Given the description of an element on the screen output the (x, y) to click on. 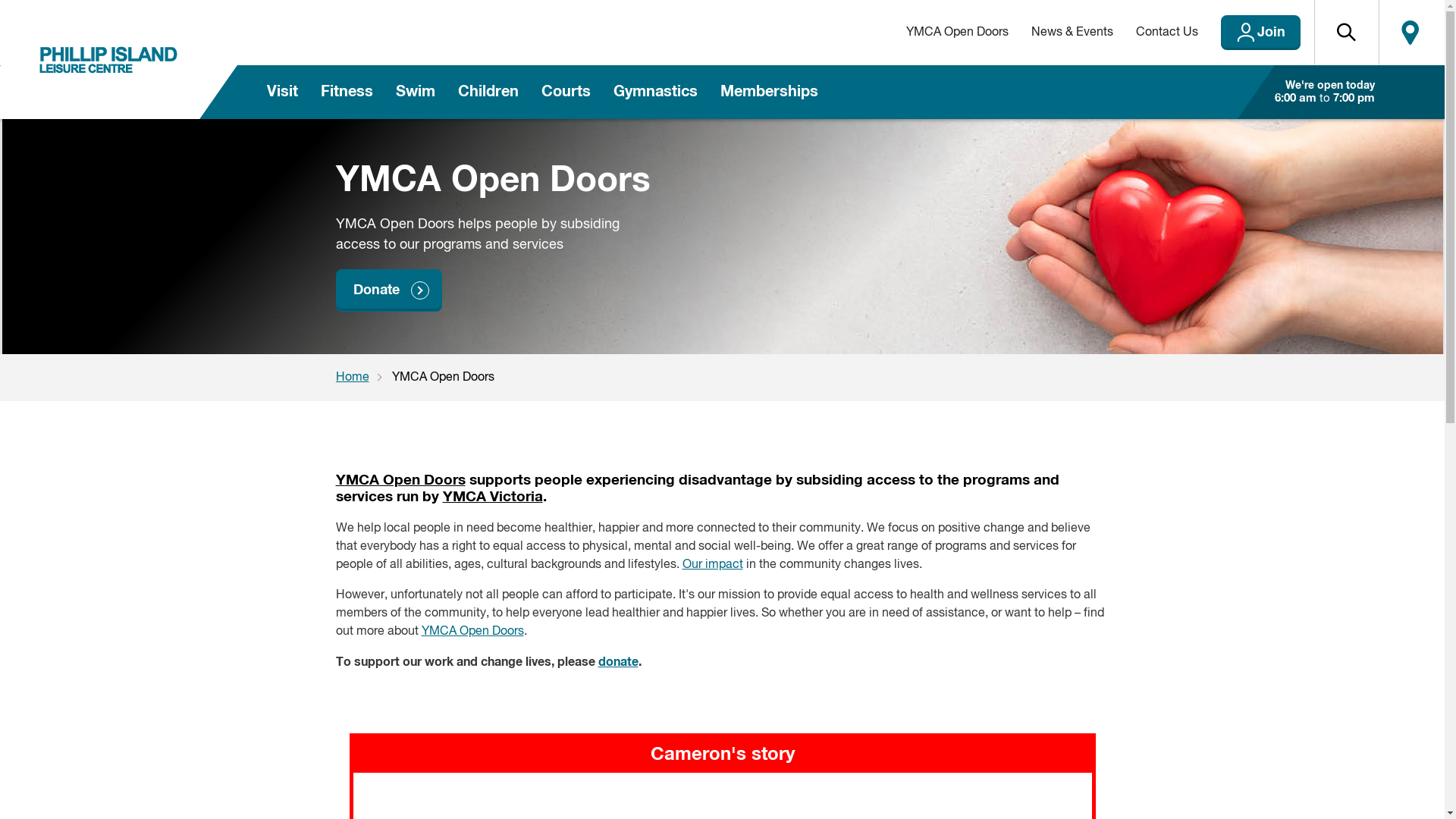
Visit Element type: text (281, 92)
donate Element type: text (617, 661)
Swim Element type: text (414, 92)
YMCA Open Doors Element type: text (956, 32)
Our impact Element type: text (712, 564)
Gymnastics Element type: text (655, 92)
Home Element type: text (363, 377)
Donate Element type: text (388, 290)
Join Element type: text (1260, 32)
Memberships Element type: text (768, 92)
Contact Us Element type: text (1165, 32)
News & Events Element type: text (1071, 32)
Courts Element type: text (565, 92)
Children Element type: text (487, 92)
YMCA Open Doors Element type: text (472, 631)
Fitness Element type: text (346, 92)
Locate Element type: text (1410, 32)
YMCA Victoria Element type: text (492, 496)
YMCA Open Doors Element type: text (399, 480)
